Given the description of an element on the screen output the (x, y) to click on. 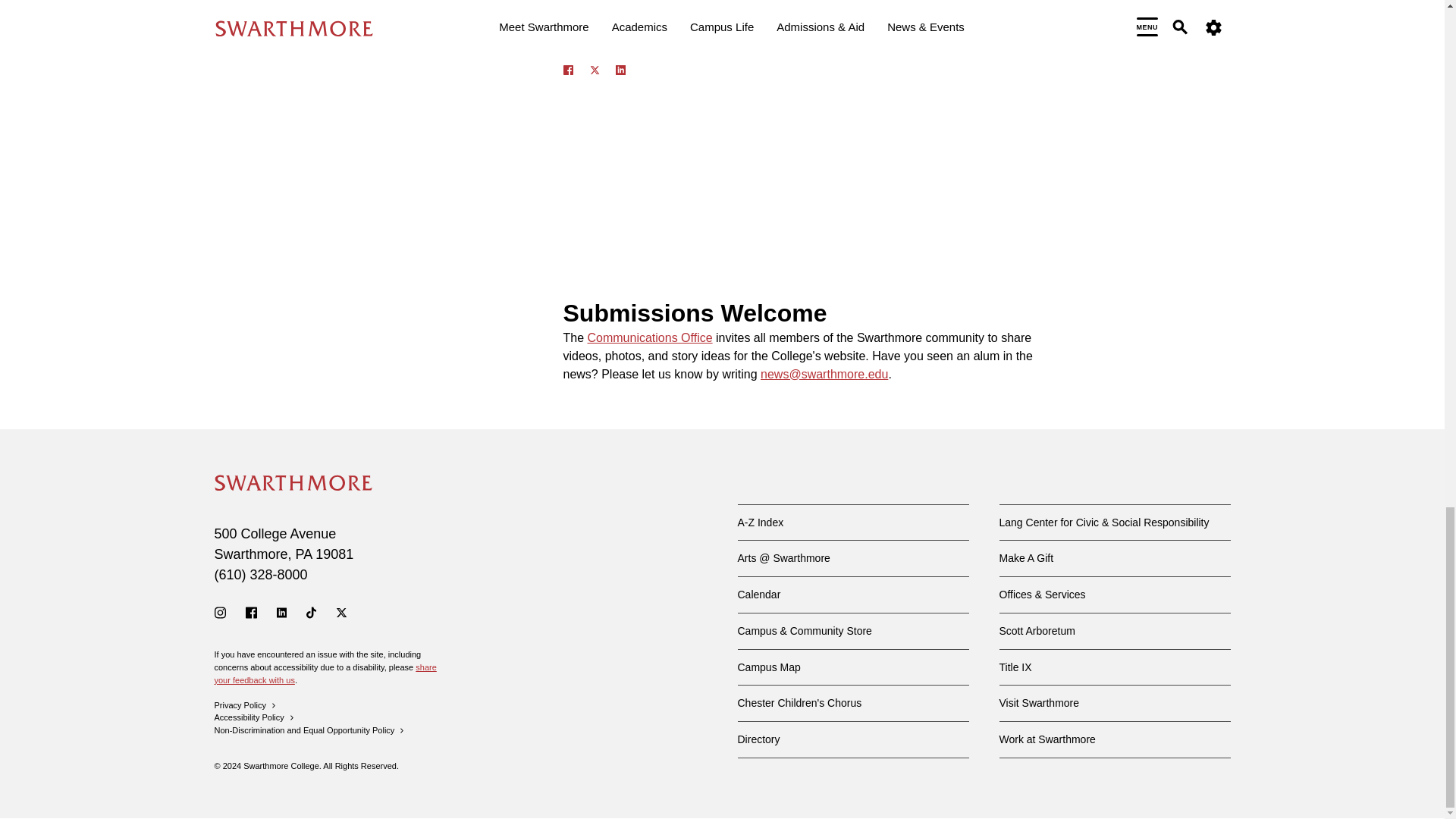
Pennsylvania (304, 554)
Swarthmore College - Home (292, 482)
FACEBOOK (567, 69)
Instagram (219, 612)
LINKEDIN (620, 69)
Facebook (251, 612)
